Given the description of an element on the screen output the (x, y) to click on. 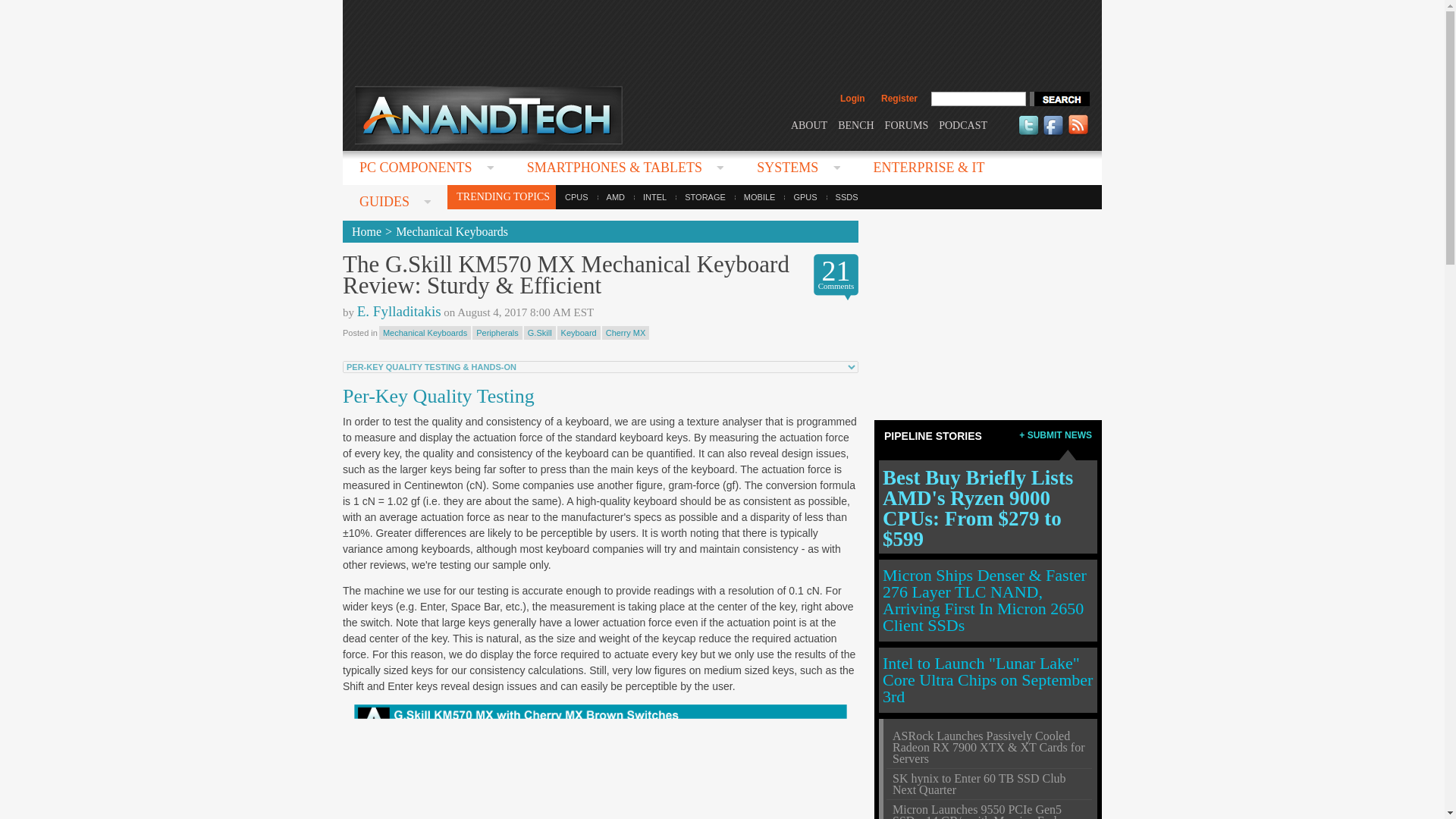
Register (898, 98)
search (1059, 98)
search (1059, 98)
ABOUT (808, 125)
BENCH (855, 125)
PODCAST (963, 125)
FORUMS (906, 125)
Login (852, 98)
search (1059, 98)
